Given the description of an element on the screen output the (x, y) to click on. 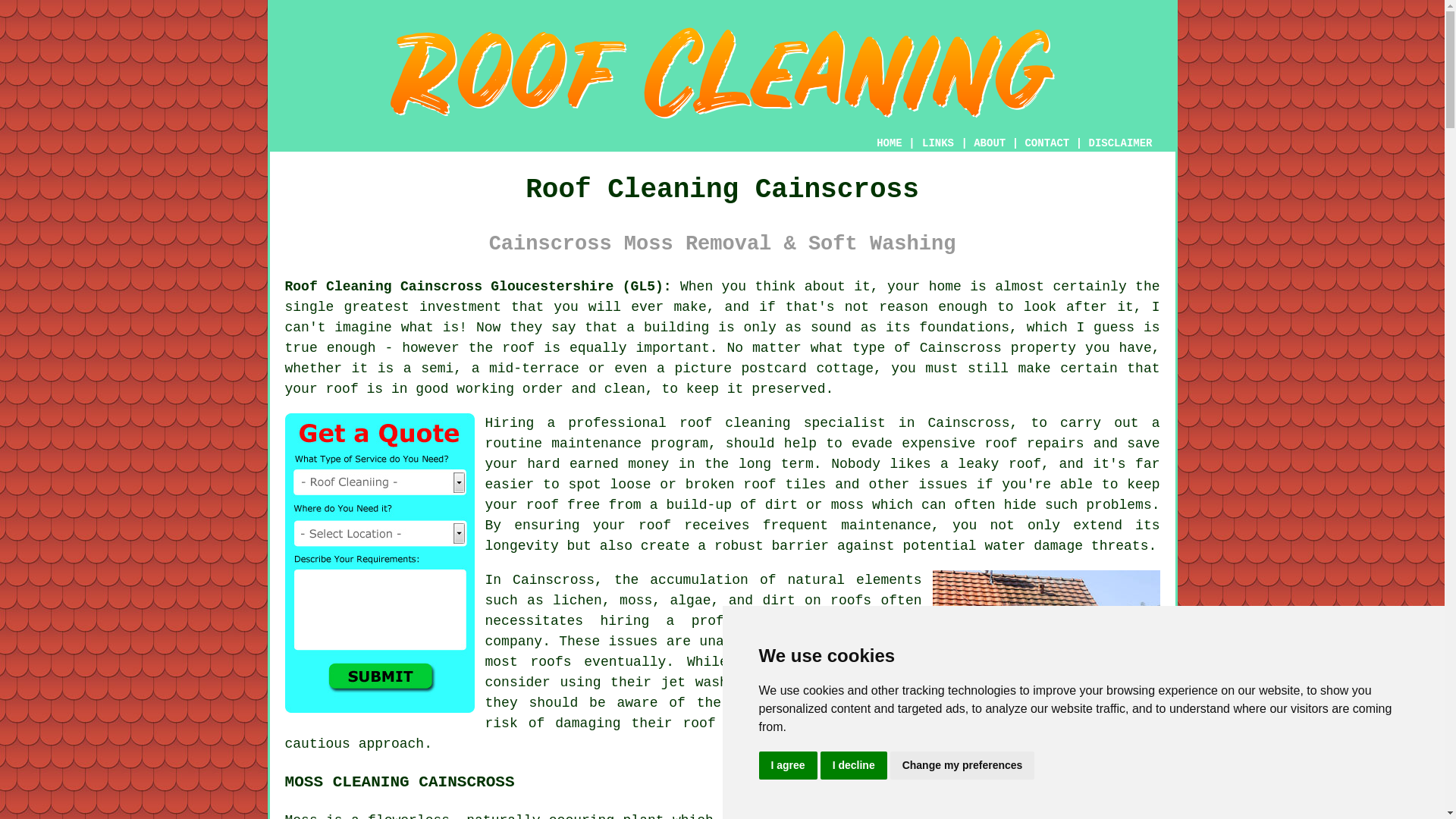
I decline (853, 765)
roof (342, 388)
roof cleaning company (702, 631)
LINKS (938, 142)
Roof Cleaning Cainscross (722, 73)
Change my preferences (962, 765)
roof tiles (724, 723)
HOME (889, 143)
Cainscross Roof Cleaning (1046, 644)
I agree (787, 765)
